Given the description of an element on the screen output the (x, y) to click on. 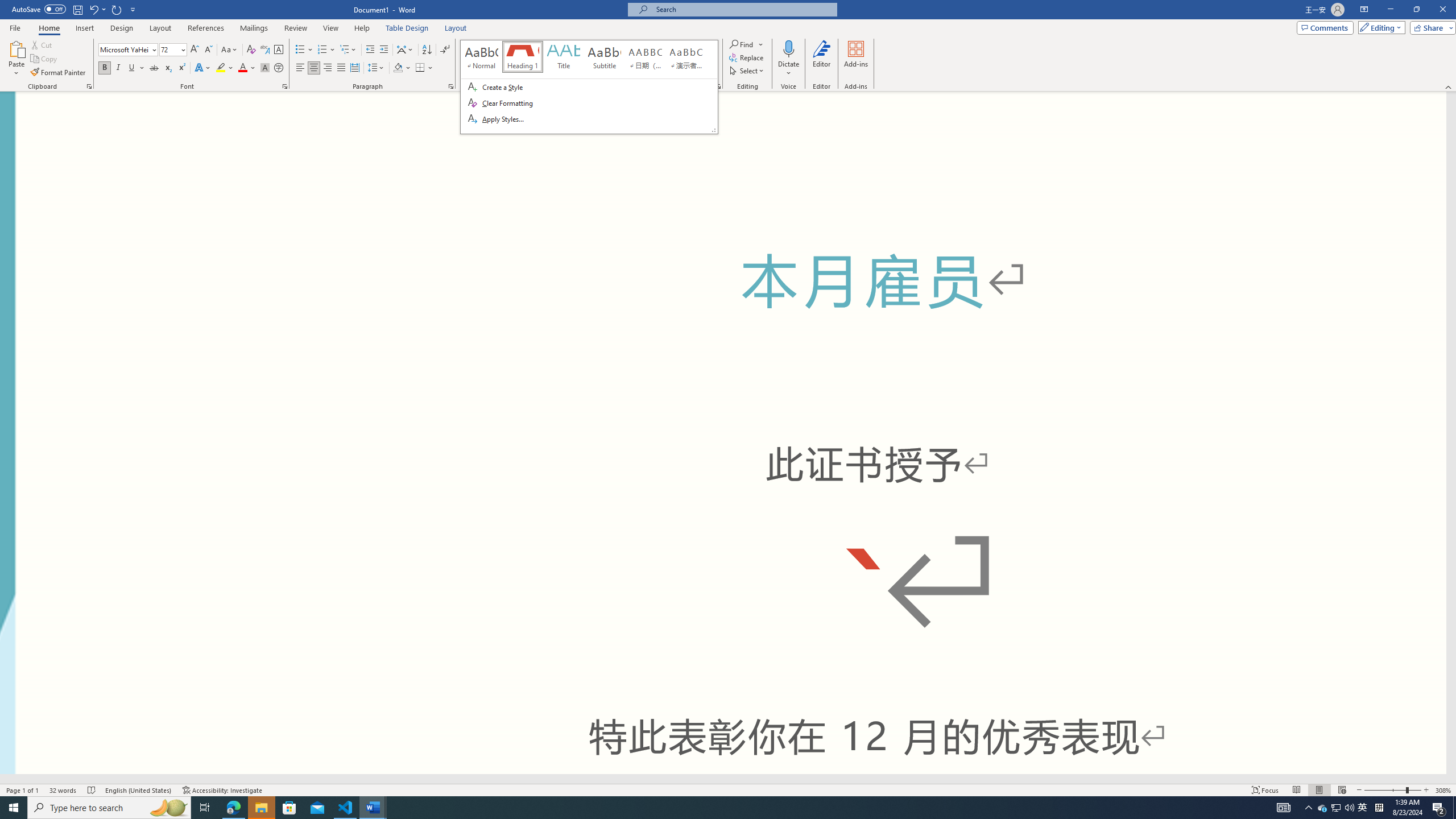
AutomationID: 4105 (1283, 807)
Line and Paragraph Spacing (376, 67)
Office Clipboard... (88, 85)
Text Highlight Color (224, 67)
Superscript (1335, 807)
